Given the description of an element on the screen output the (x, y) to click on. 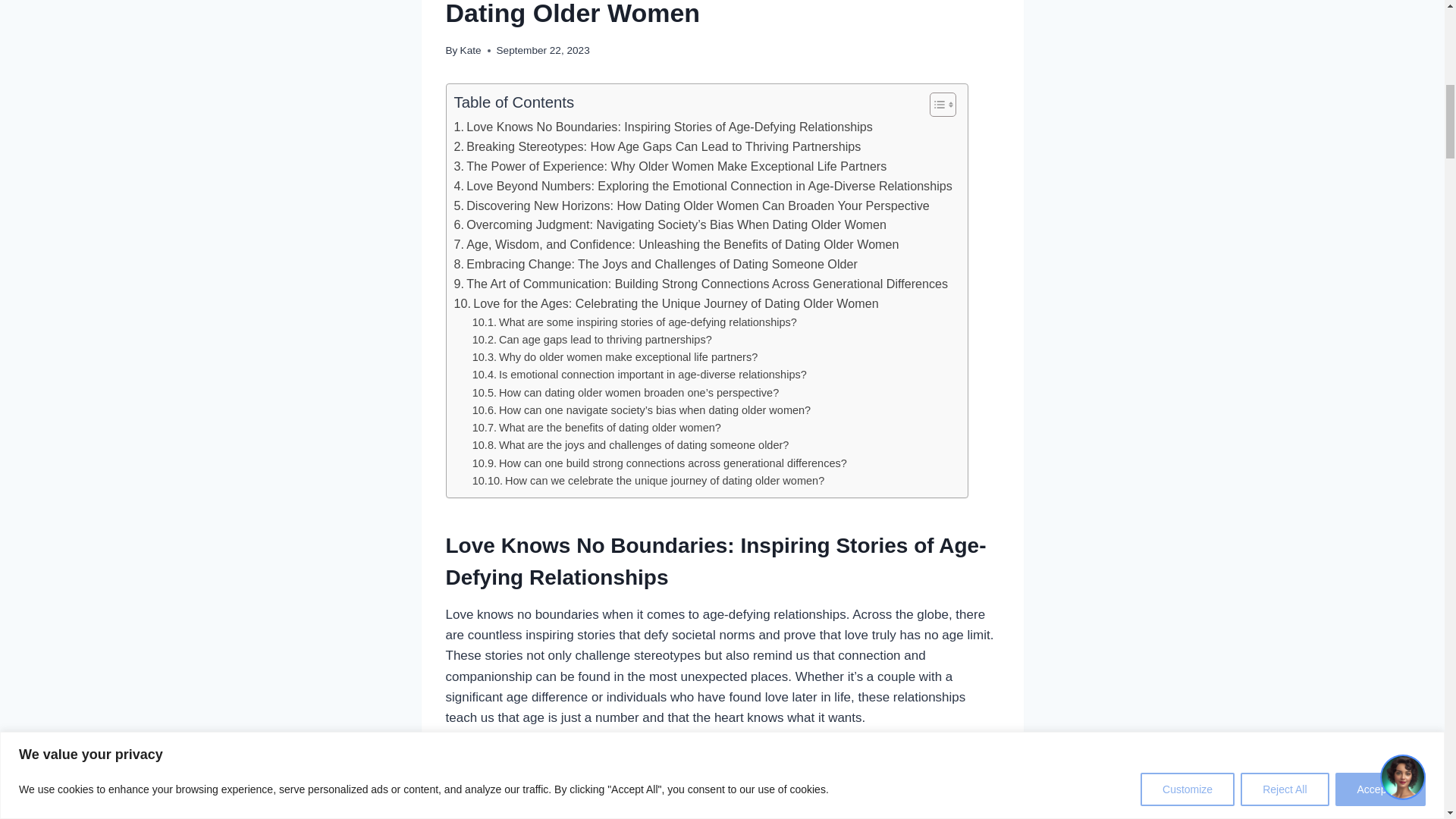
Kate (470, 50)
Can age gaps lead to thriving partnerships? (591, 339)
Why do older women make exceptional life partners? (614, 357)
